Given the description of an element on the screen output the (x, y) to click on. 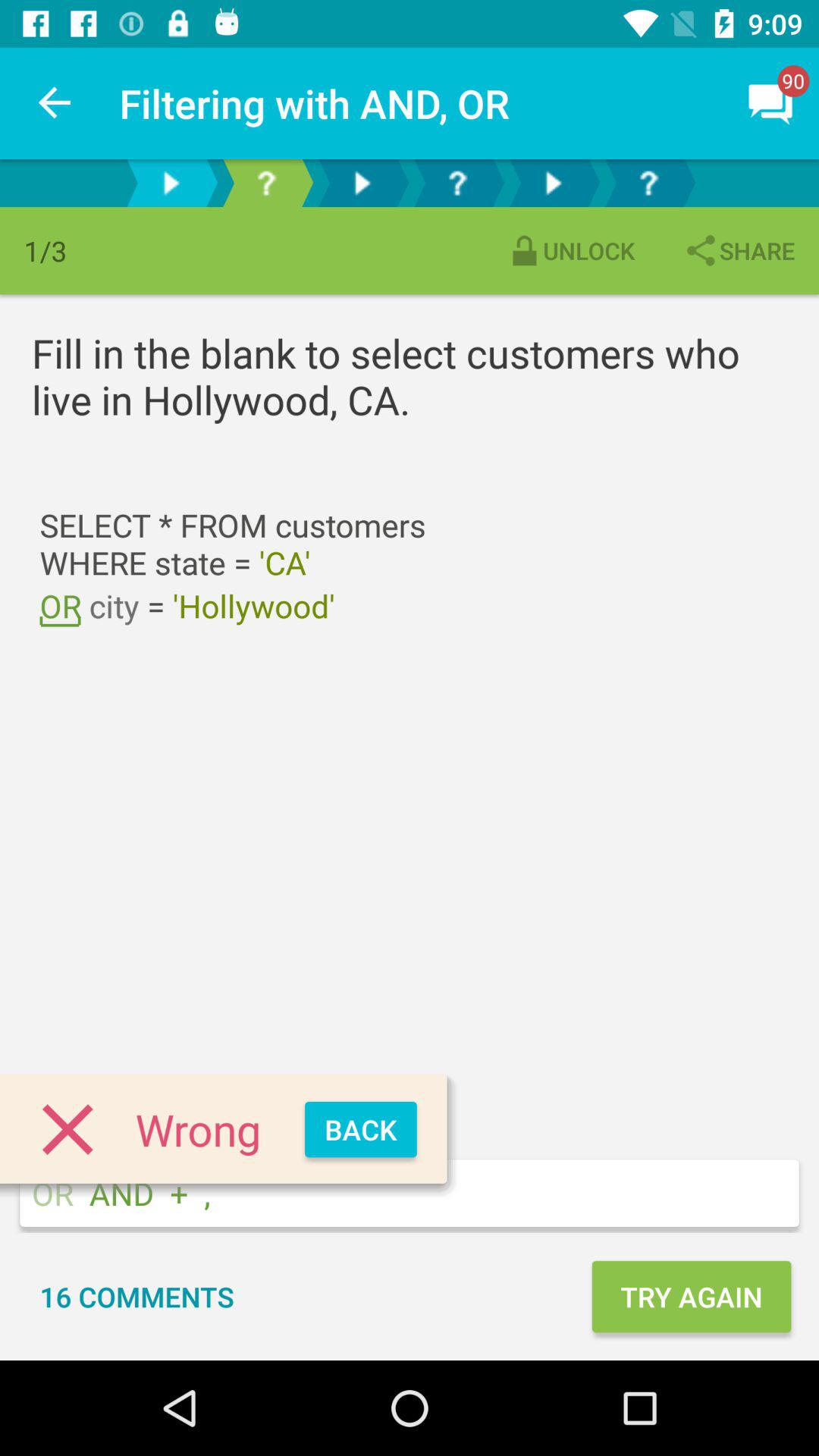
fifth breadcrumb (552, 183)
